Given the description of an element on the screen output the (x, y) to click on. 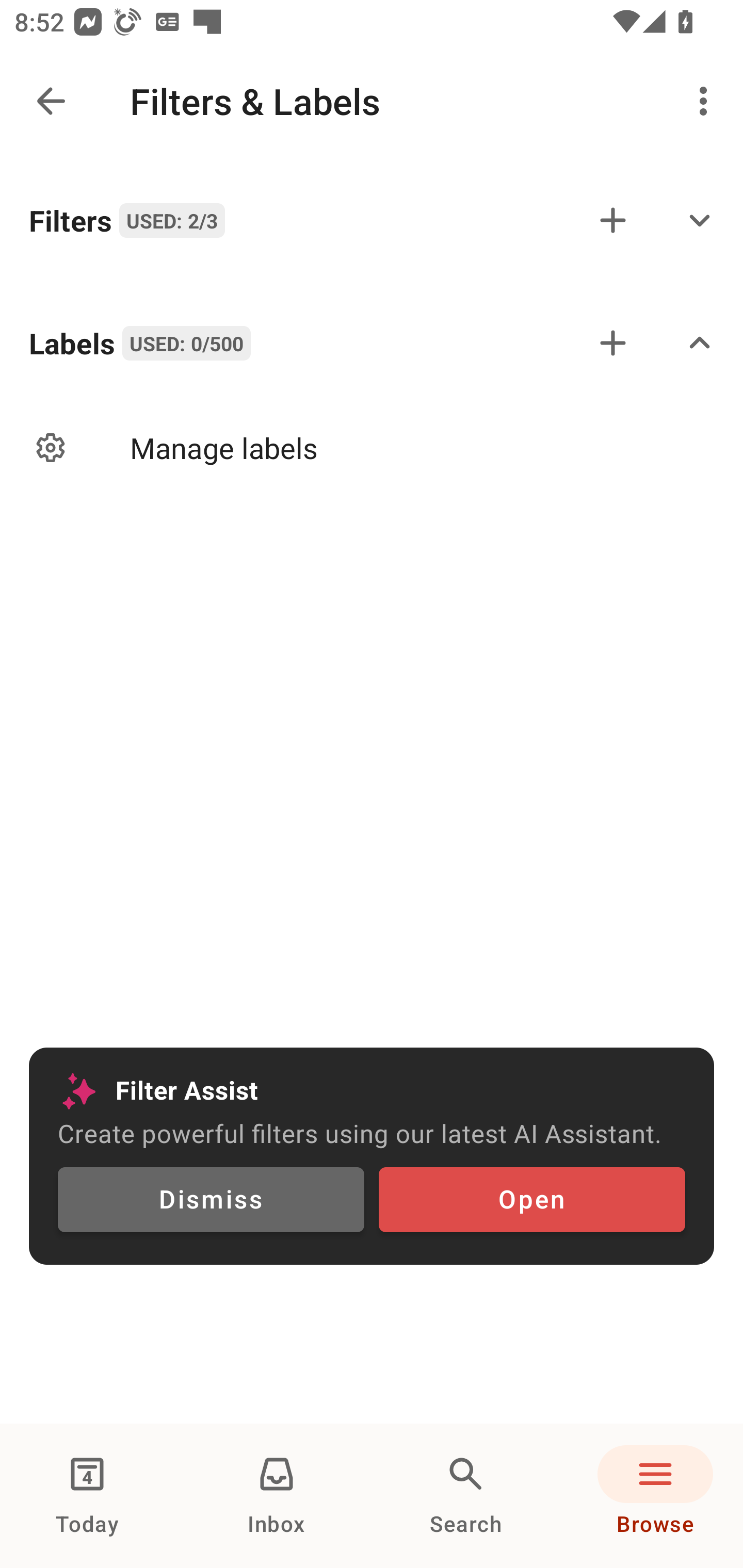
Navigate up Filters & Labels More options (371, 100)
Navigate up (50, 101)
More options (706, 101)
Filters USED: 2/3 Add Expand/collapse (371, 220)
Add (612, 220)
Labels USED: 0/500 Add Expand/collapse (371, 342)
Add (612, 342)
Manage labels (371, 447)
Dismiss (210, 1200)
Open (531, 1200)
Today (87, 1495)
Inbox (276, 1495)
Search (465, 1495)
